Given the description of an element on the screen output the (x, y) to click on. 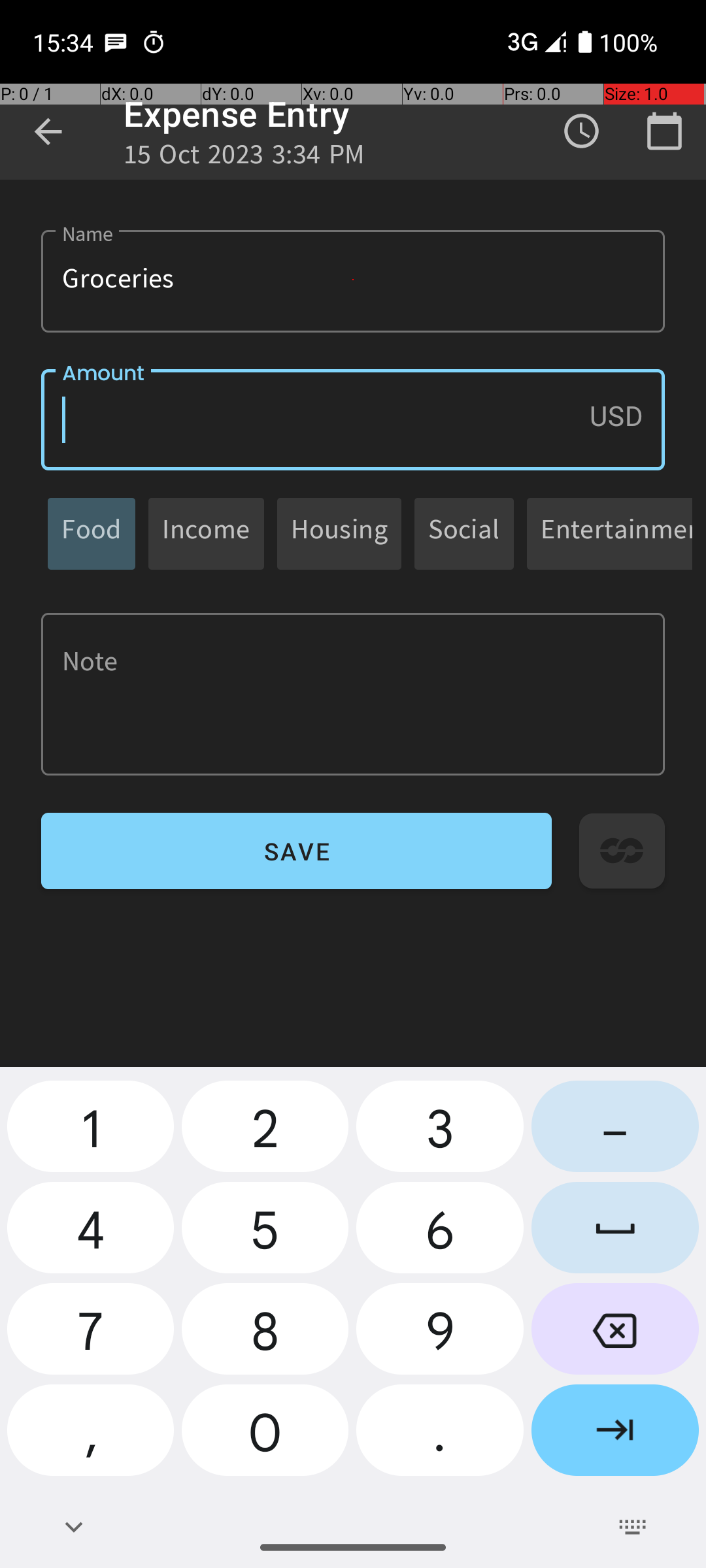
Expense Entry Element type: android.widget.TextView (236, 113)
15 Oct 2023 3:34 PM Element type: android.widget.TextView (244, 157)
Time Element type: android.widget.TextView (580, 131)
Groceries Element type: android.widget.EditText (352, 280)
SAVE Element type: android.widget.Button (296, 850)
Food Element type: android.widget.TextView (91, 533)
Income Element type: android.widget.TextView (206, 533)
Housing Element type: android.widget.TextView (338, 533)
Social Element type: android.widget.TextView (464, 533)
Entertainment Element type: android.widget.TextView (616, 533)
Dash Element type: android.widget.FrameLayout (614, 1130)
Next Element type: android.widget.FrameLayout (614, 1434)
